Given the description of an element on the screen output the (x, y) to click on. 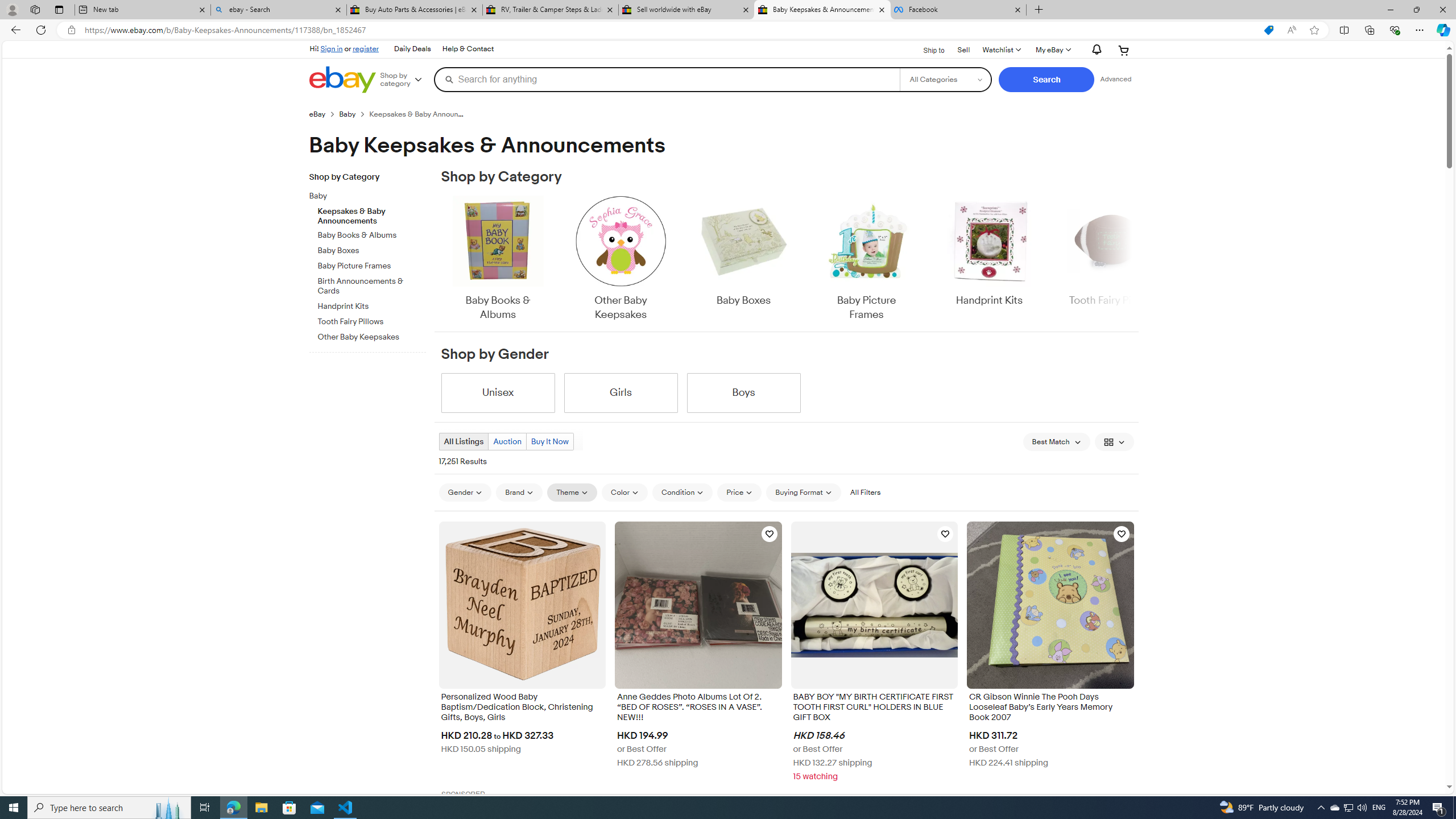
This site has coupons! Shopping in Microsoft Edge (1268, 29)
Search for anything (666, 78)
AutomationID: gh-eb-Alerts (1094, 49)
App bar (728, 29)
Advanced Search (1115, 78)
Condition (682, 492)
Girls (620, 392)
Your shopping cart (1123, 49)
Sell (963, 49)
Buy It Now (549, 441)
